Given the description of an element on the screen output the (x, y) to click on. 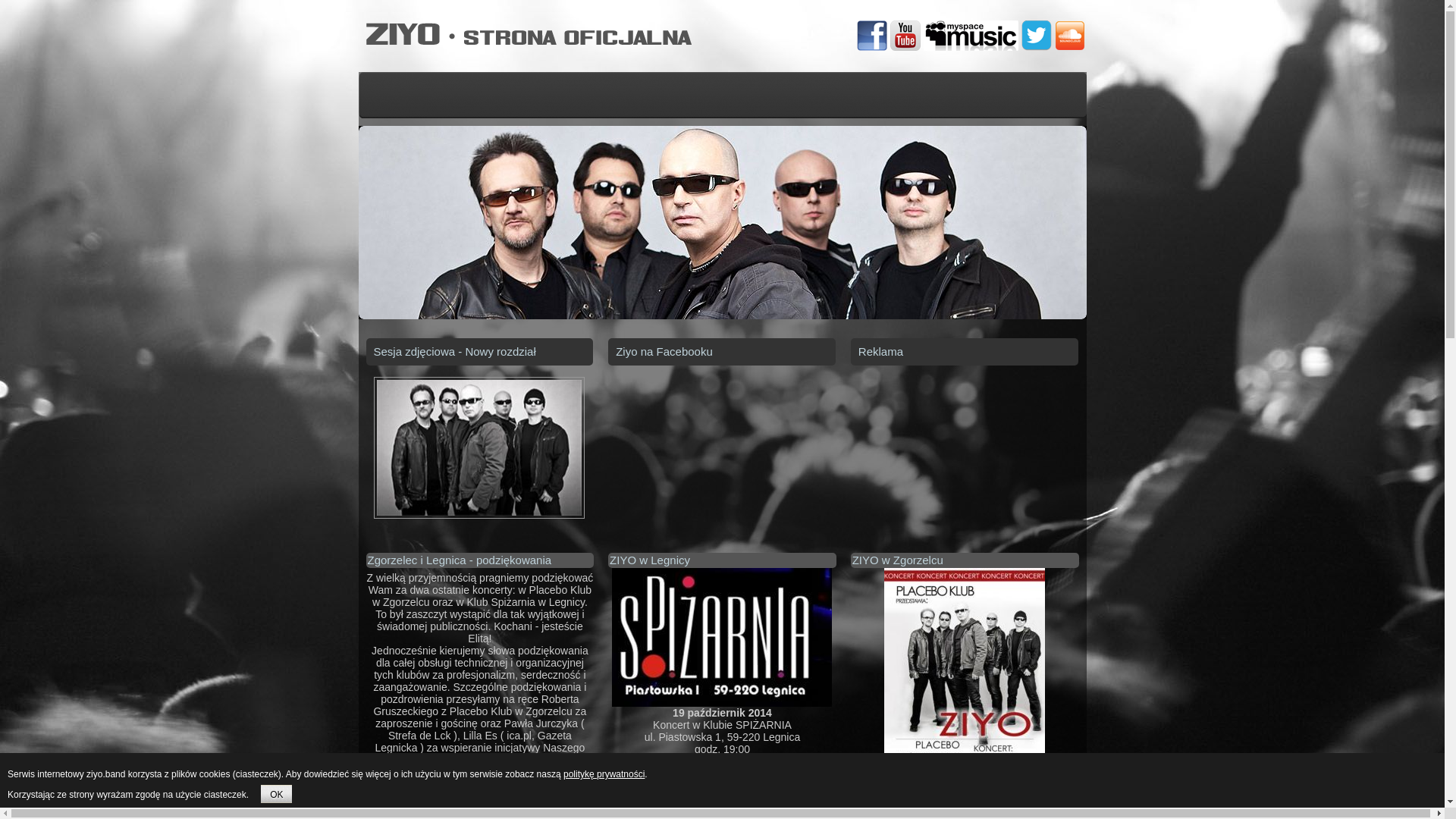
OK Element type: text (275, 793)
ZIYO na Facebooku Element type: hover (871, 35)
ZIYO w myspace.com Element type: hover (970, 35)
ZIYO na Twitterze Element type: hover (1035, 35)
